Given the description of an element on the screen output the (x, y) to click on. 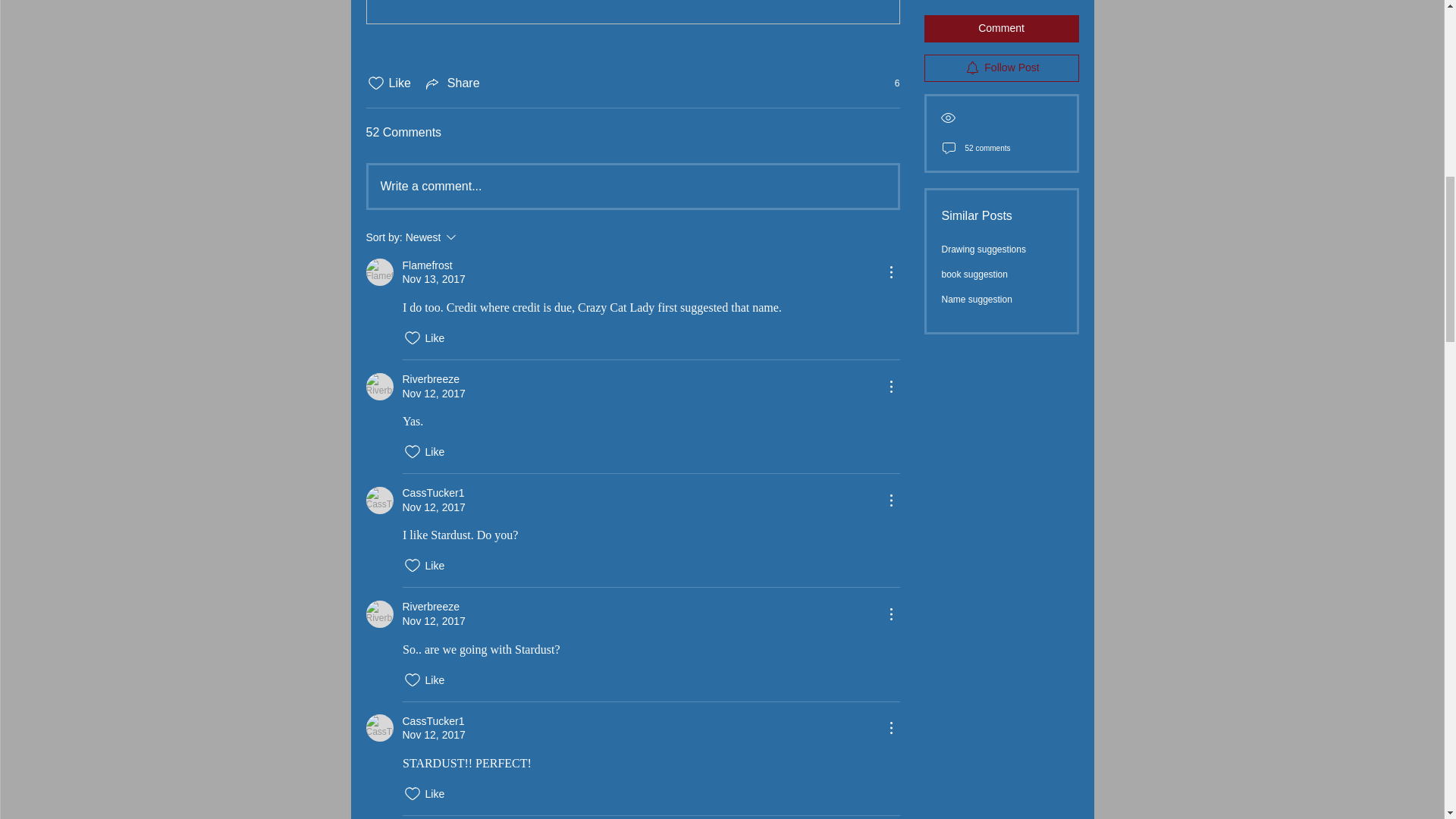
Riverbreeze (379, 386)
CassTucker1 (379, 728)
Riverbreeze (379, 614)
CassTucker1 (379, 500)
Flamefrost (379, 271)
